Given the description of an element on the screen output the (x, y) to click on. 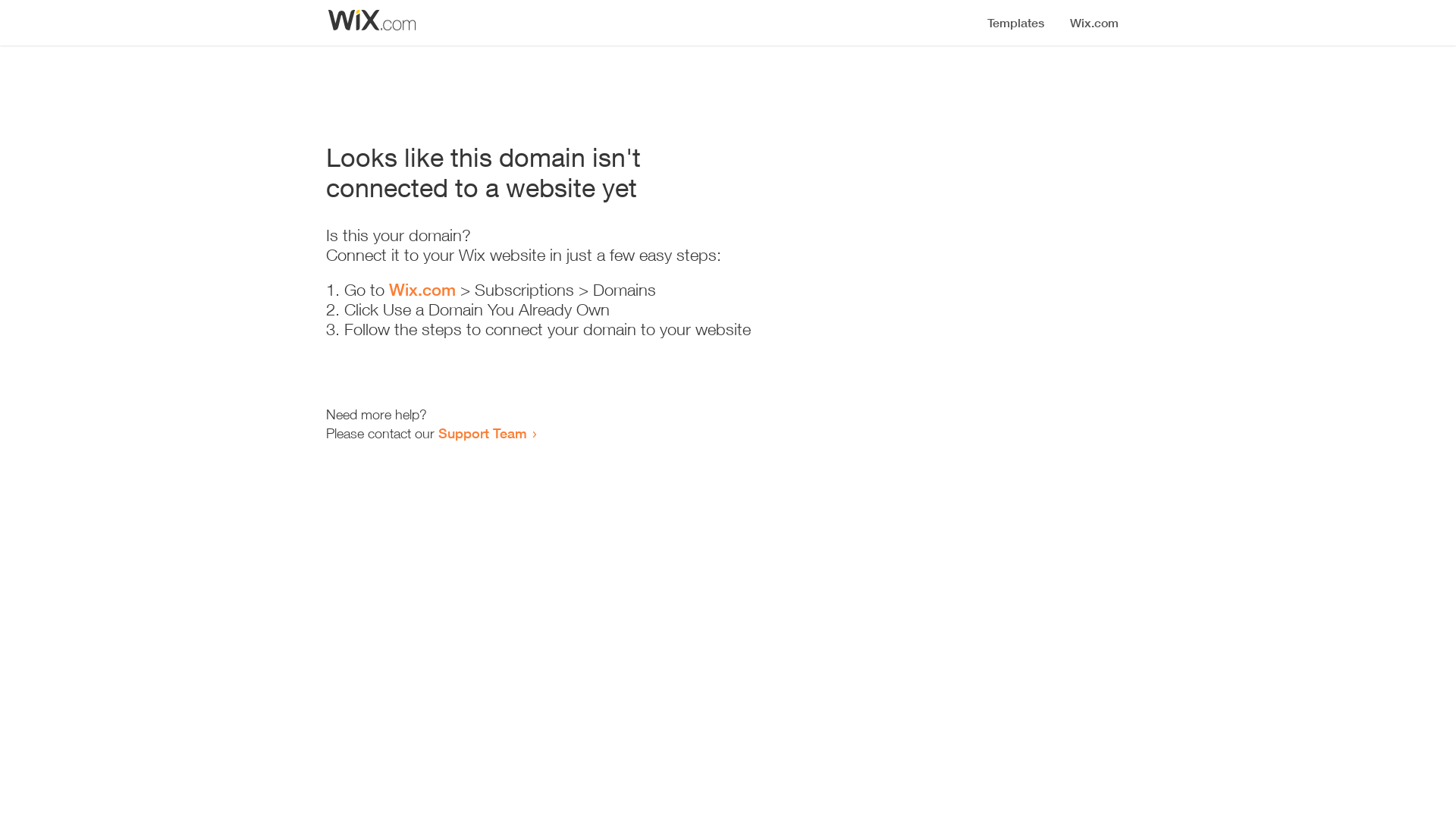
Support Team Element type: text (482, 432)
Wix.com Element type: text (422, 289)
